Given the description of an element on the screen output the (x, y) to click on. 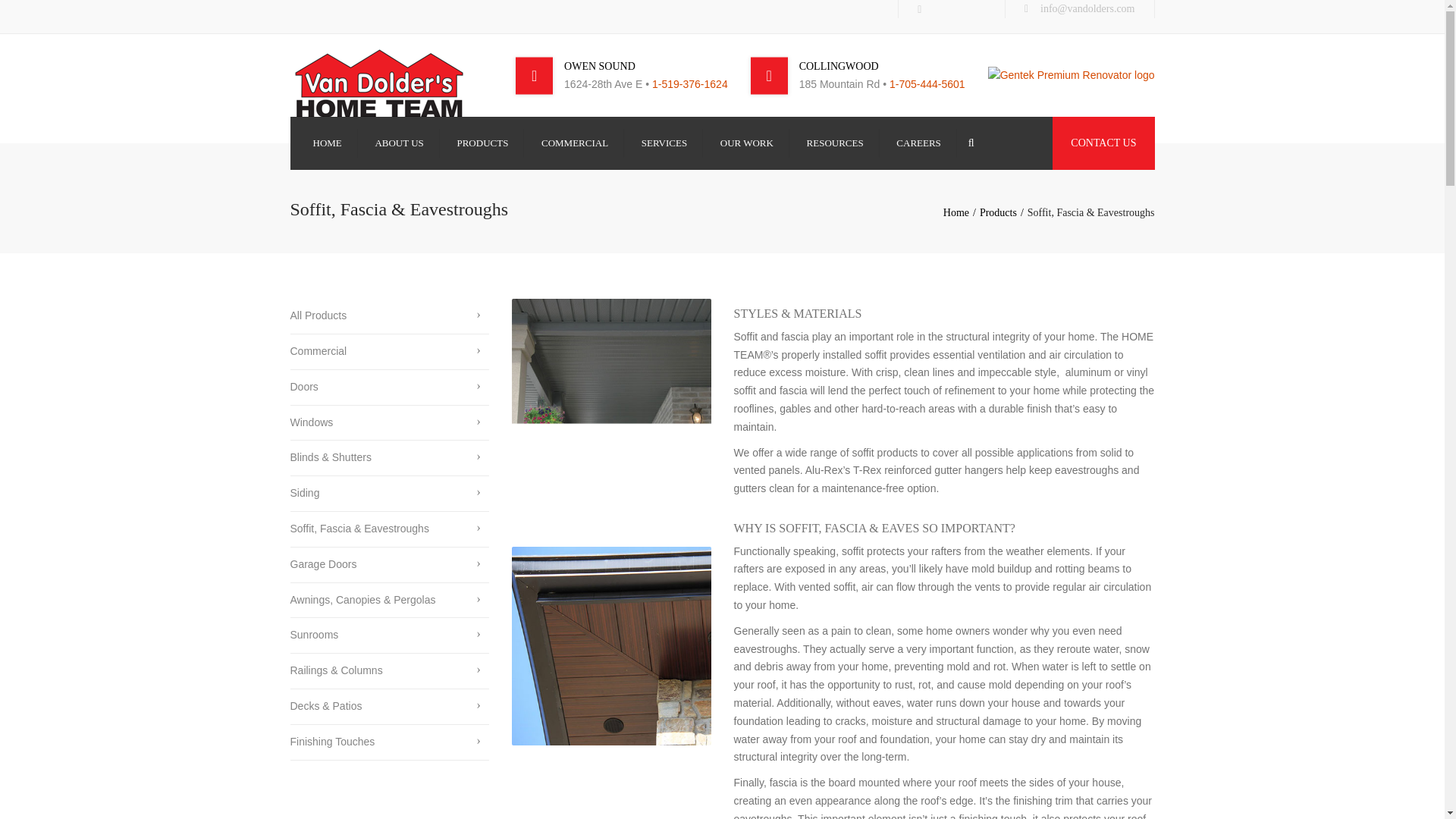
OUR WORK (746, 143)
COMMERCIAL (574, 143)
1-705-444-5601 (927, 82)
ABOUT US (398, 143)
CAREERS (918, 143)
PRODUCTS (481, 143)
SERVICES (663, 143)
1-519-376-1624 (690, 82)
RESOURCES (834, 143)
